Given the description of an element on the screen output the (x, y) to click on. 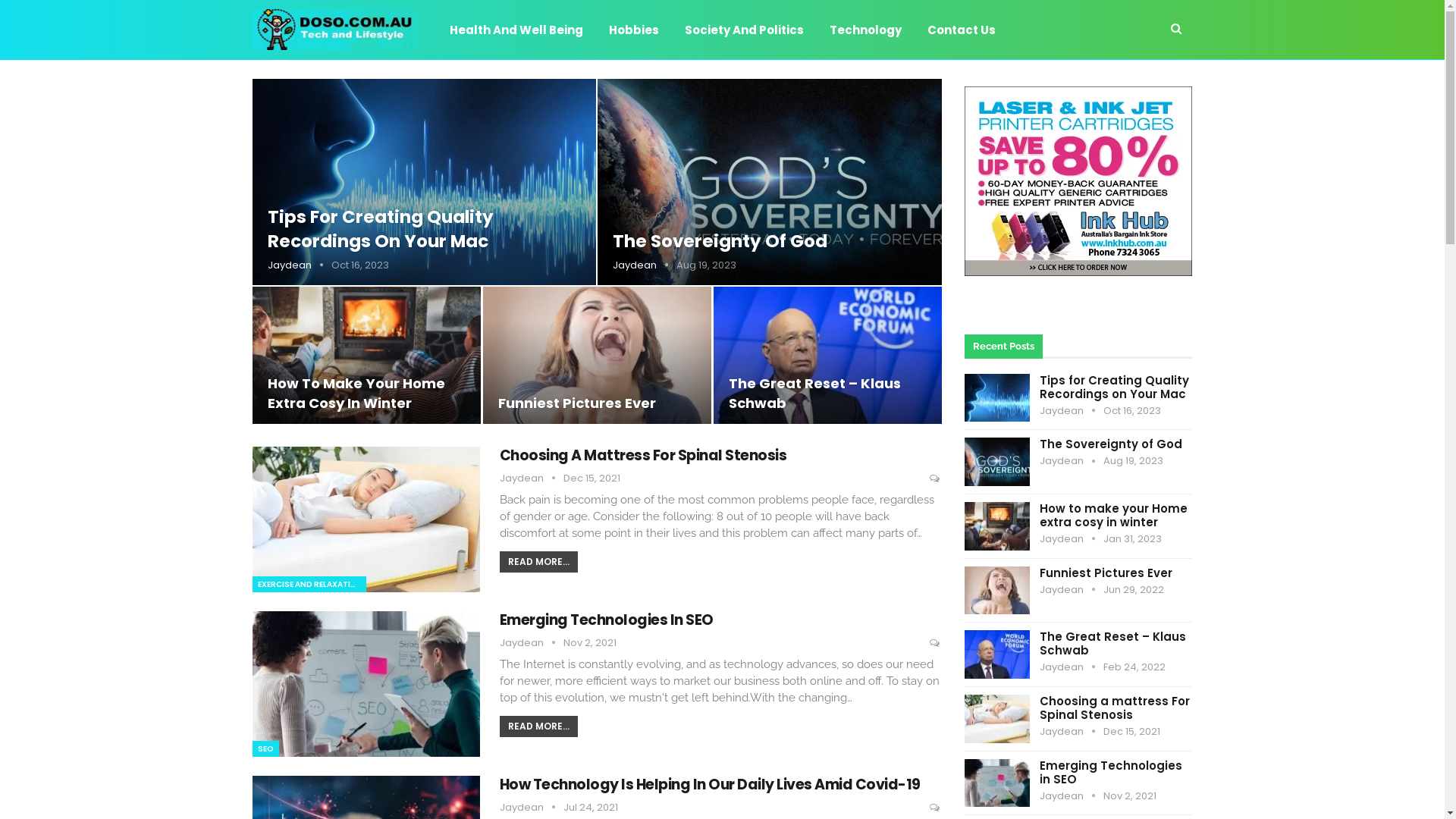
Tips For Creating Quality Recordings On Your Mac Element type: text (379, 228)
How Technology Is Helping In Our Daily Lives Amid Covid-19 Element type: text (708, 784)
READ MORE... Element type: text (537, 726)
Hobbies Element type: text (633, 29)
EXERCISE AND RELAXATION Element type: text (308, 584)
The Sovereignty of God Element type: hover (996, 461)
How to make your Home extra cosy in winter Element type: text (1113, 515)
Tips for Creating Quality Recordings on Your Mac Element type: text (1114, 386)
How to make your Home extra cosy in winter Element type: hover (996, 526)
Emerging Technologies in SEO Element type: hover (996, 783)
Tips for Creating Quality Recordings on Your Mac Element type: hover (996, 397)
Jaydean Element type: text (298, 264)
Funniest Pictures Ever Element type: text (1105, 572)
How to make your Home extra cosy in winter Element type: hover (366, 354)
Jaydean Element type: text (644, 264)
Jaydean Element type: text (1071, 410)
Tips for Creating Quality Recordings on Your Mac Element type: hover (423, 181)
Contact Us Element type: text (960, 29)
Choosing a mattress For Spinal Stenosis Element type: text (1114, 707)
Health And Well Being Element type: text (515, 29)
Funniest Pictures Ever Element type: hover (596, 354)
Emerging Technologies in SEO Element type: hover (365, 683)
Funniest Pictures Ever Element type: hover (996, 590)
SEO Element type: text (264, 748)
Jaydean Element type: text (530, 642)
Jaydean Element type: text (530, 477)
Jaydean Element type: text (530, 807)
Society And Politics Element type: text (743, 29)
Choosing a mattress For Spinal Stenosis Element type: hover (996, 718)
Jaydean Element type: text (1071, 538)
How To Make Your Home Extra Cosy In Winter Element type: text (355, 392)
Emerging Technologies in SEO Element type: text (1110, 772)
The Sovereignty Of God Element type: text (719, 241)
Jaydean Element type: text (1071, 666)
The Sovereignty of God Element type: hover (769, 181)
Funniest Pictures Ever Element type: text (576, 402)
Choosing a mattress For Spinal Stenosis Element type: hover (365, 519)
The Sovereignty of God Element type: text (1110, 443)
Choosing A Mattress For Spinal Stenosis Element type: text (642, 455)
Jaydean Element type: text (1071, 589)
READ MORE... Element type: text (537, 561)
Technology Element type: text (865, 29)
Jaydean Element type: text (1071, 795)
Jaydean Element type: text (1071, 731)
Emerging Technologies In SEO Element type: text (605, 619)
Jaydean Element type: text (1071, 460)
